Given the description of an element on the screen output the (x, y) to click on. 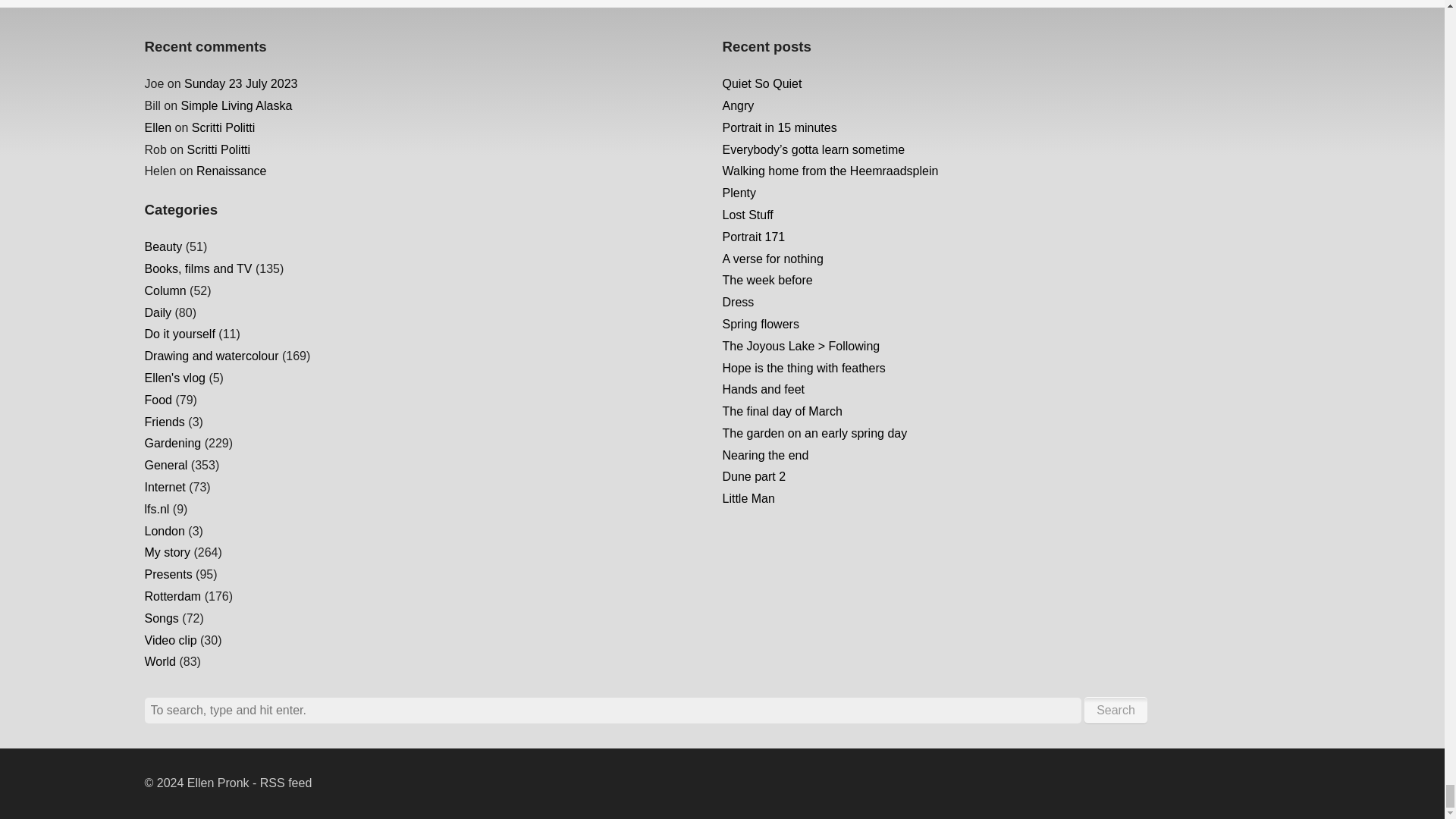
Renaissance (231, 170)
Gardening (172, 442)
Sunday 23 July 2023 (240, 83)
Ellen (157, 127)
Books, films and TV (197, 268)
lfs.nl (156, 508)
Internet (164, 486)
Column (165, 290)
London (164, 530)
Friends (164, 421)
Food (157, 399)
Daily (157, 312)
Ellen's vlog (174, 377)
General (165, 464)
Scritti Politti (218, 149)
